Given the description of an element on the screen output the (x, y) to click on. 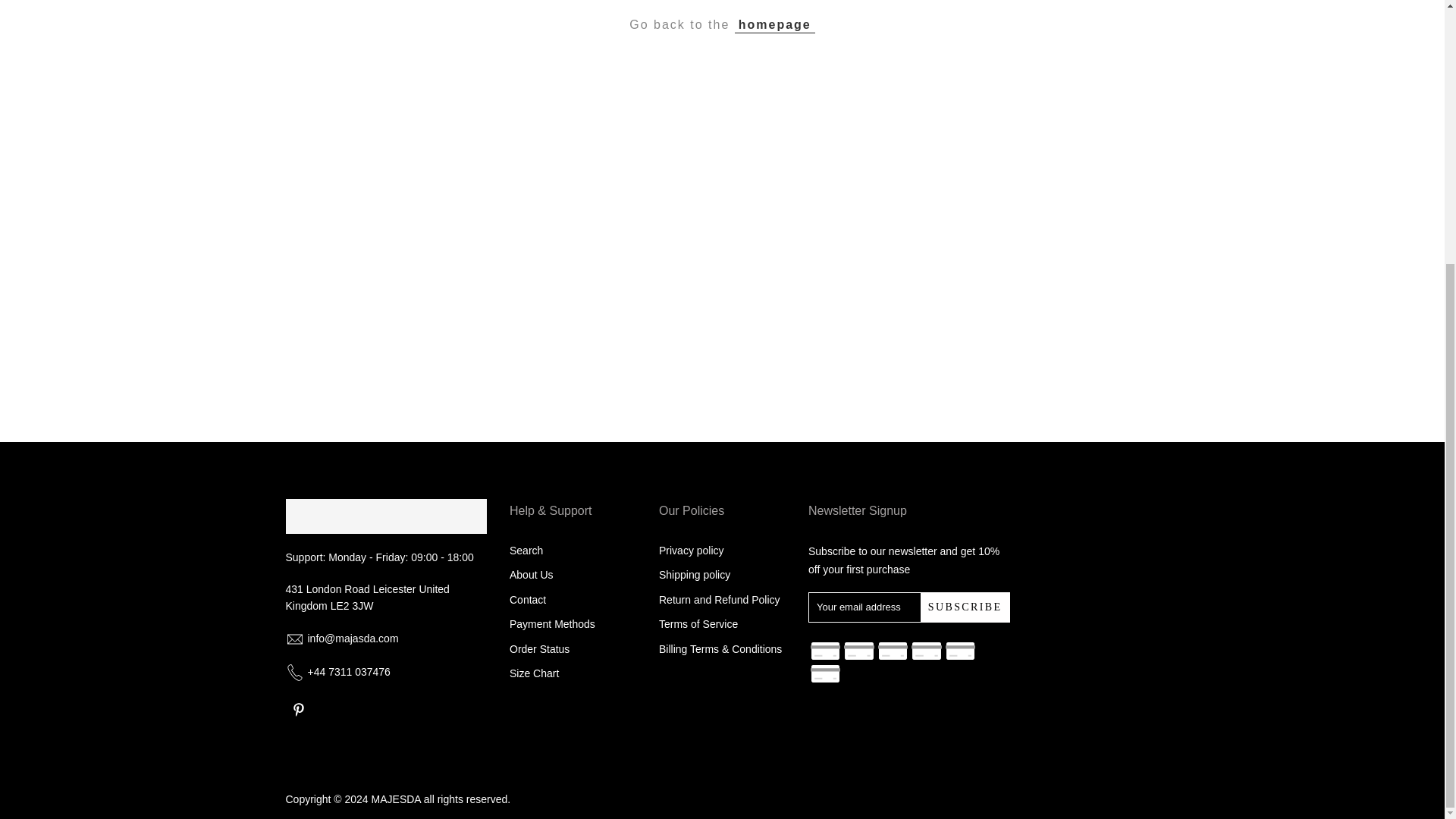
SUBSCRIBE (965, 607)
homepage (775, 24)
Privacy policy (691, 550)
Size Chart (534, 673)
Follow on Pinterest (298, 709)
Payment Methods (552, 623)
Order Status (539, 648)
Search (526, 550)
Contact (527, 599)
Return and Refund Policy (719, 599)
